Given the description of an element on the screen output the (x, y) to click on. 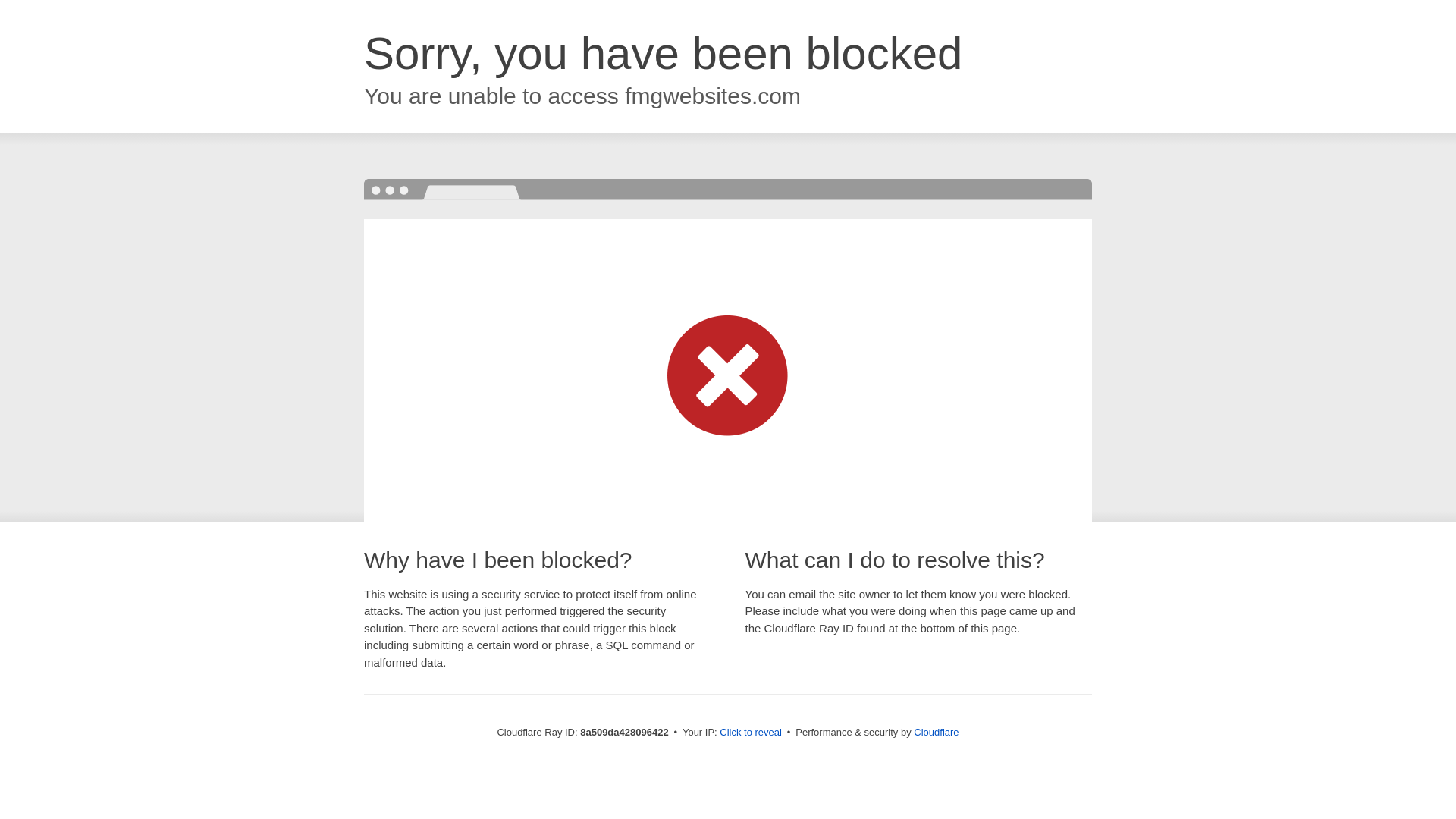
Cloudflare (936, 731)
Click to reveal (750, 732)
